Given the description of an element on the screen output the (x, y) to click on. 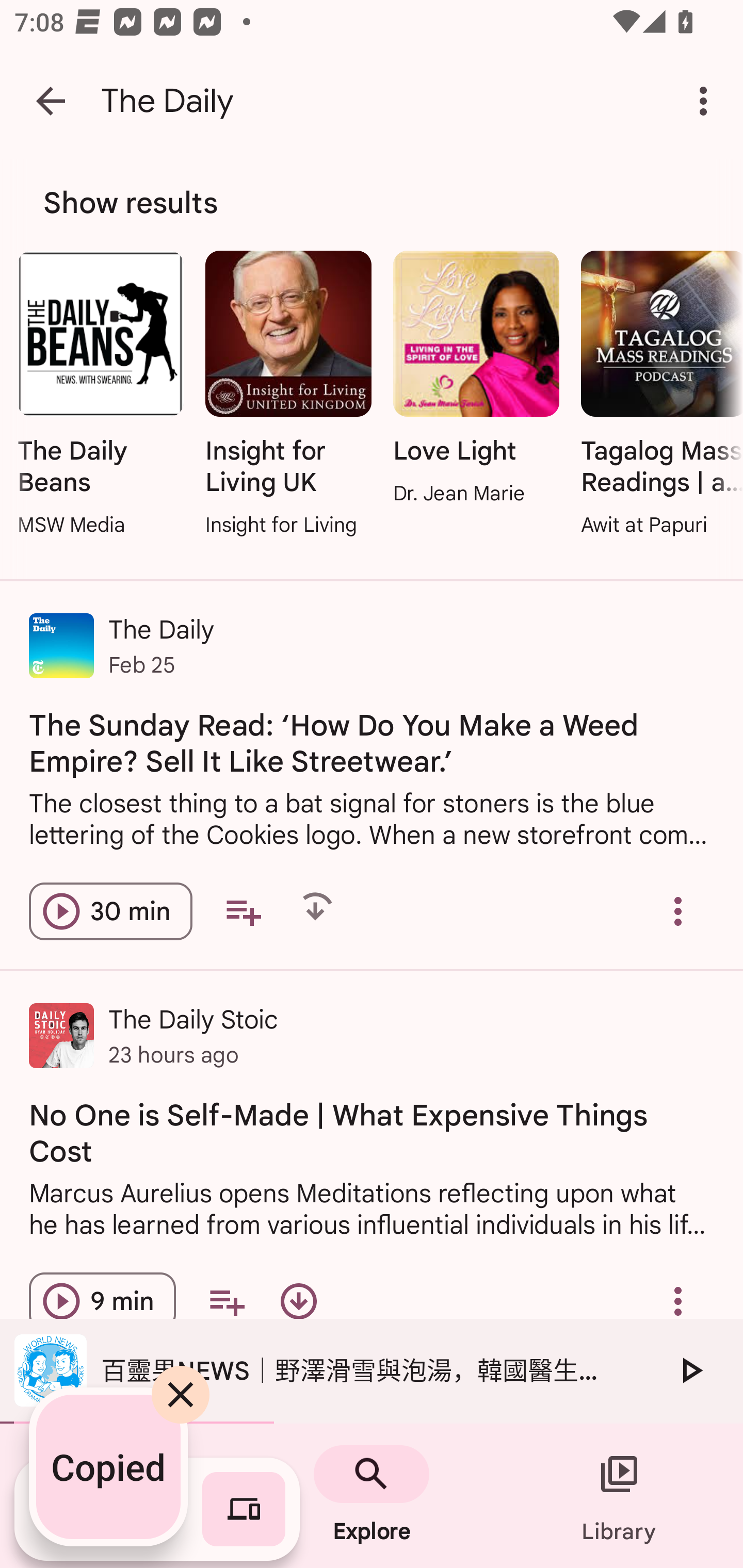
Navigate up The Daily More options (371, 100)
Navigate up (50, 101)
More options (706, 101)
The Daily Beans The Daily Beans MSW Media (100, 394)
Love Light Love Light Dr. Jean Marie Farish (475, 379)
Add to your queue (242, 911)
Queued to download - double tap for options (315, 911)
Overflow menu (677, 911)
Add to your queue (226, 1301)
Download episode (298, 1301)
Overflow menu (677, 1301)
Play (690, 1370)
Library (619, 1495)
